Given the description of an element on the screen output the (x, y) to click on. 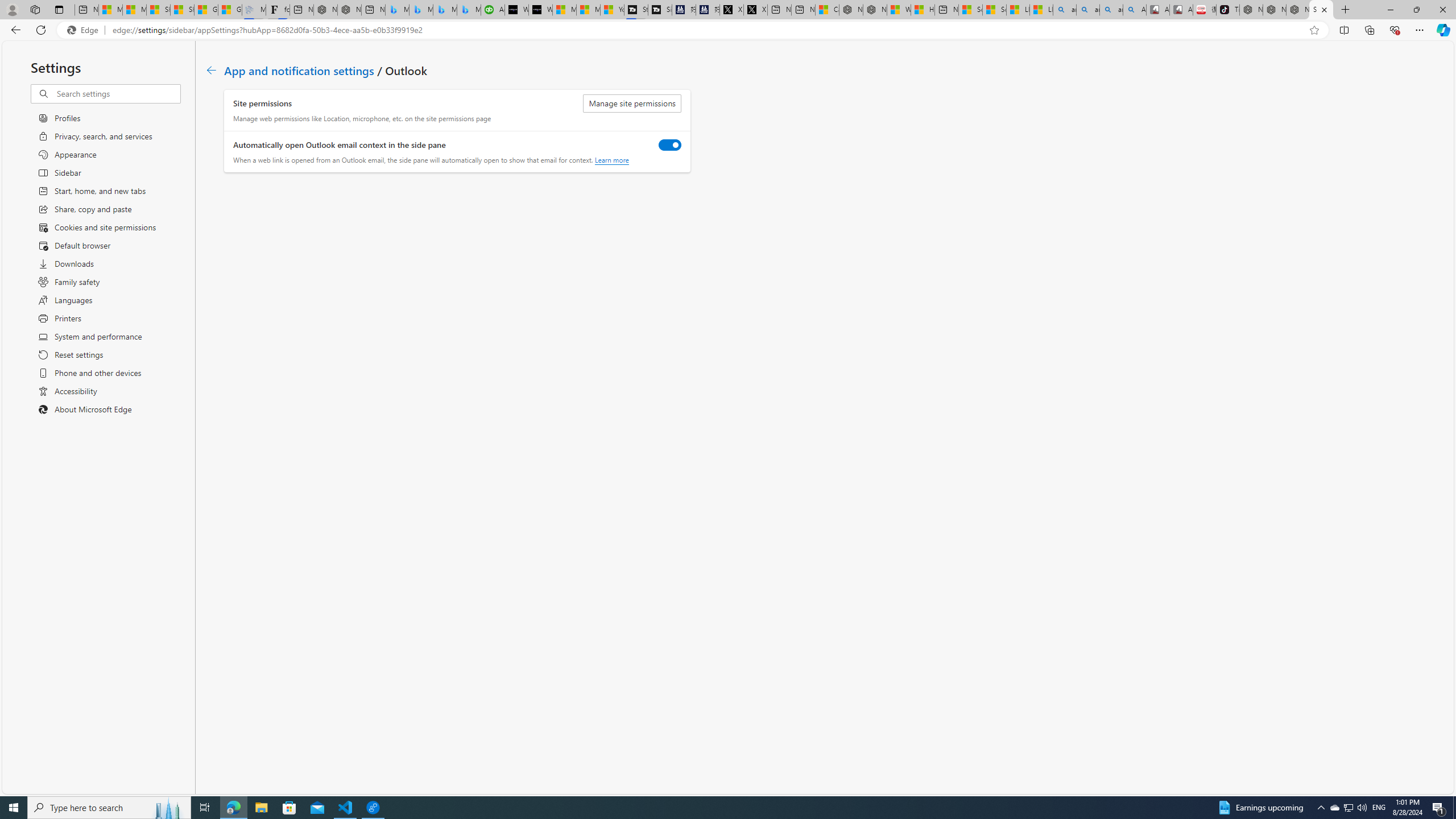
Shanghai, China weather forecast | Microsoft Weather (182, 9)
Go back to App and notification settings page. (210, 70)
Microsoft Bing Travel - Stays in Bangkok, Bangkok, Thailand (421, 9)
Nordace - Best Sellers (1251, 9)
